Given the description of an element on the screen output the (x, y) to click on. 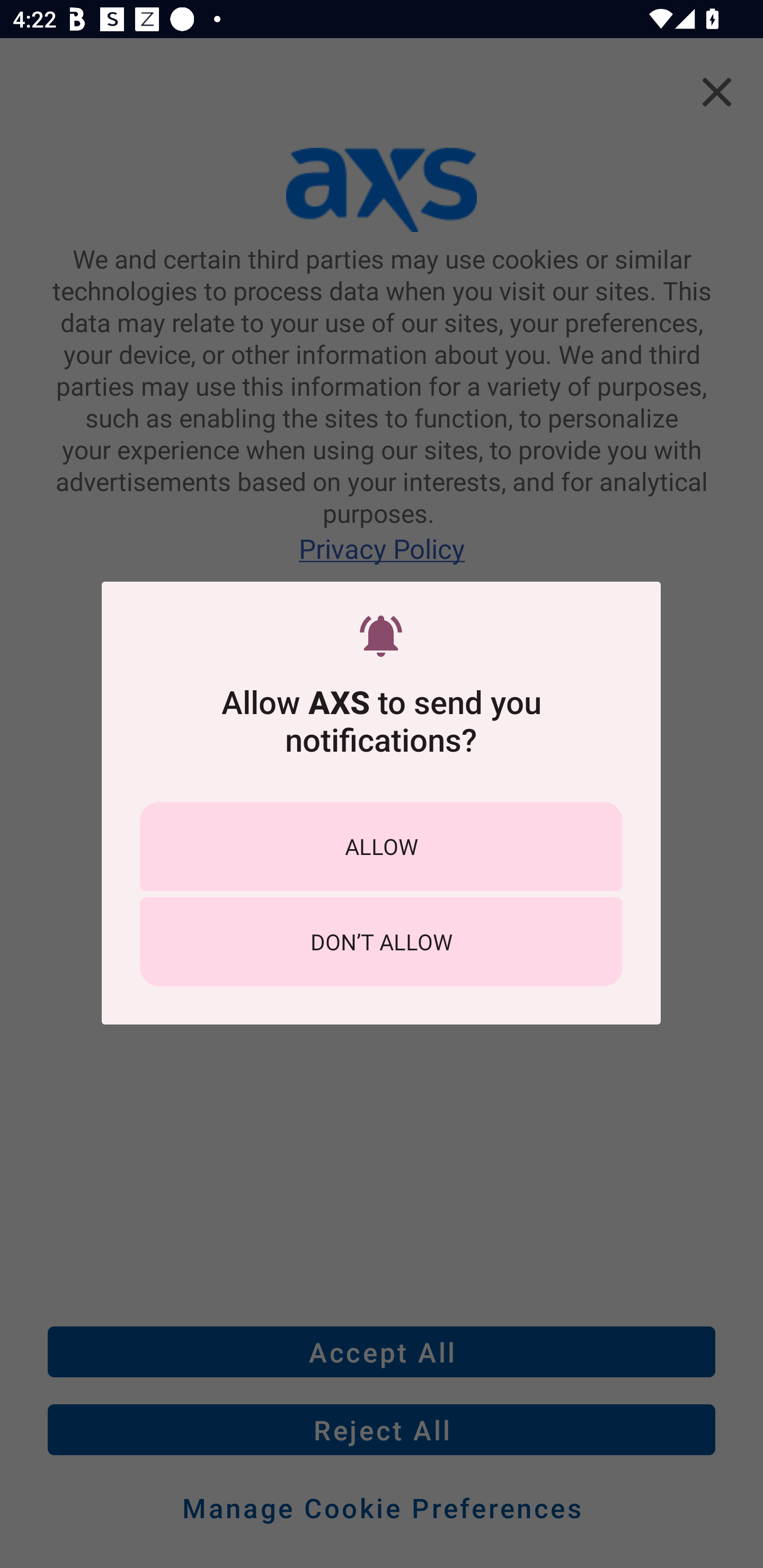
ALLOW (380, 845)
DON’T ALLOW (380, 941)
